Given the description of an element on the screen output the (x, y) to click on. 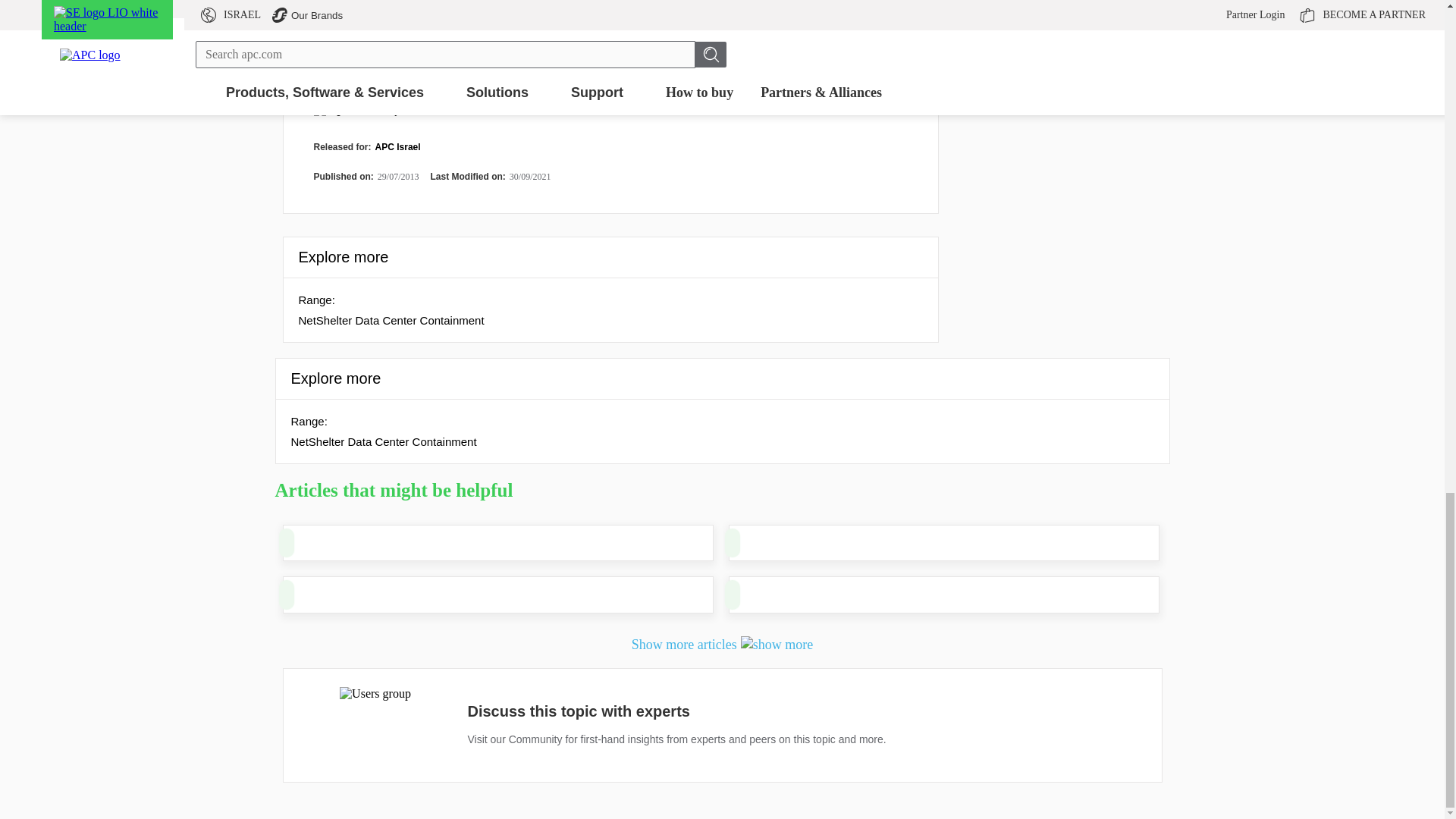
Can your InRow Cooling Auto-Start after a Power Failure (298, 594)
ACRC Tech Data Manual (298, 542)
CDU Installation Manual (743, 594)
Can the sliding doors from HyperPod be used on an EcoAisle? (743, 542)
